Given the description of an element on the screen output the (x, y) to click on. 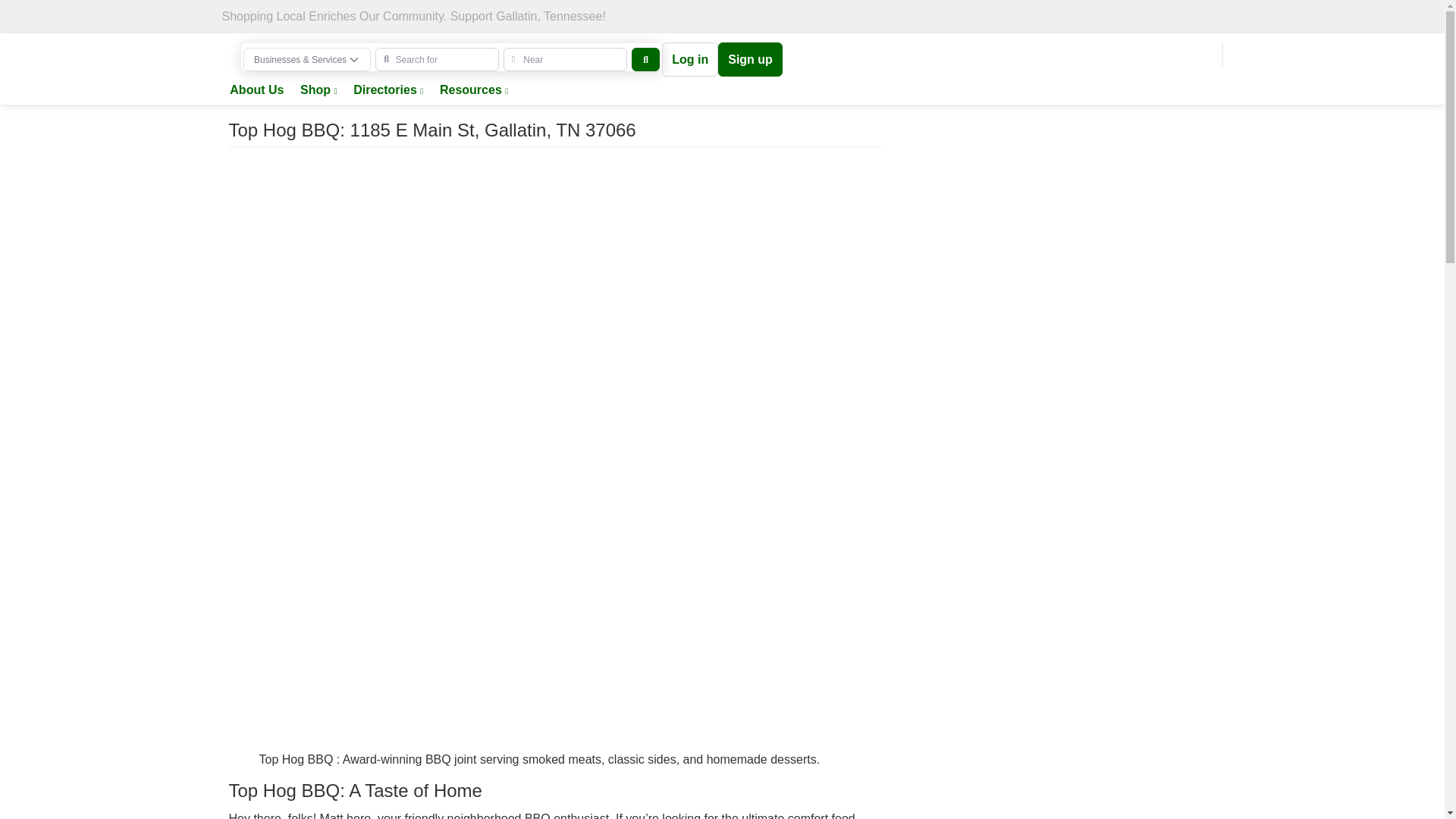
Sign up (750, 59)
Directories (387, 90)
Resources (473, 90)
About Us (256, 90)
Search (645, 59)
Log in (689, 59)
Shop (318, 90)
